Given the description of an element on the screen output the (x, y) to click on. 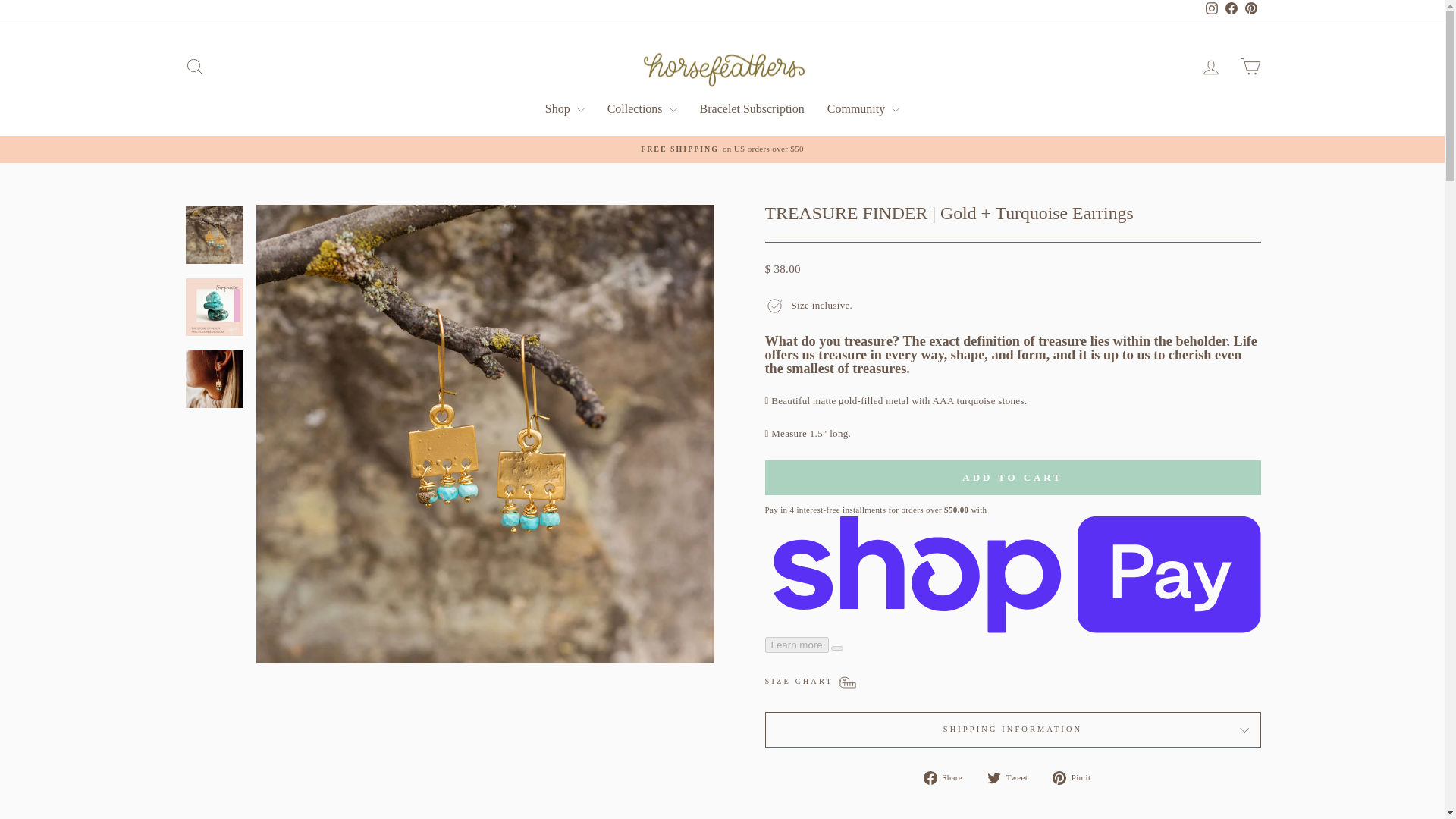
icon-search (194, 66)
account (1210, 66)
Tweet on Twitter (1013, 777)
Share on Facebook (948, 777)
twitter (994, 777)
instagram (1211, 8)
Pin on Pinterest (1077, 777)
